Given the description of an element on the screen output the (x, y) to click on. 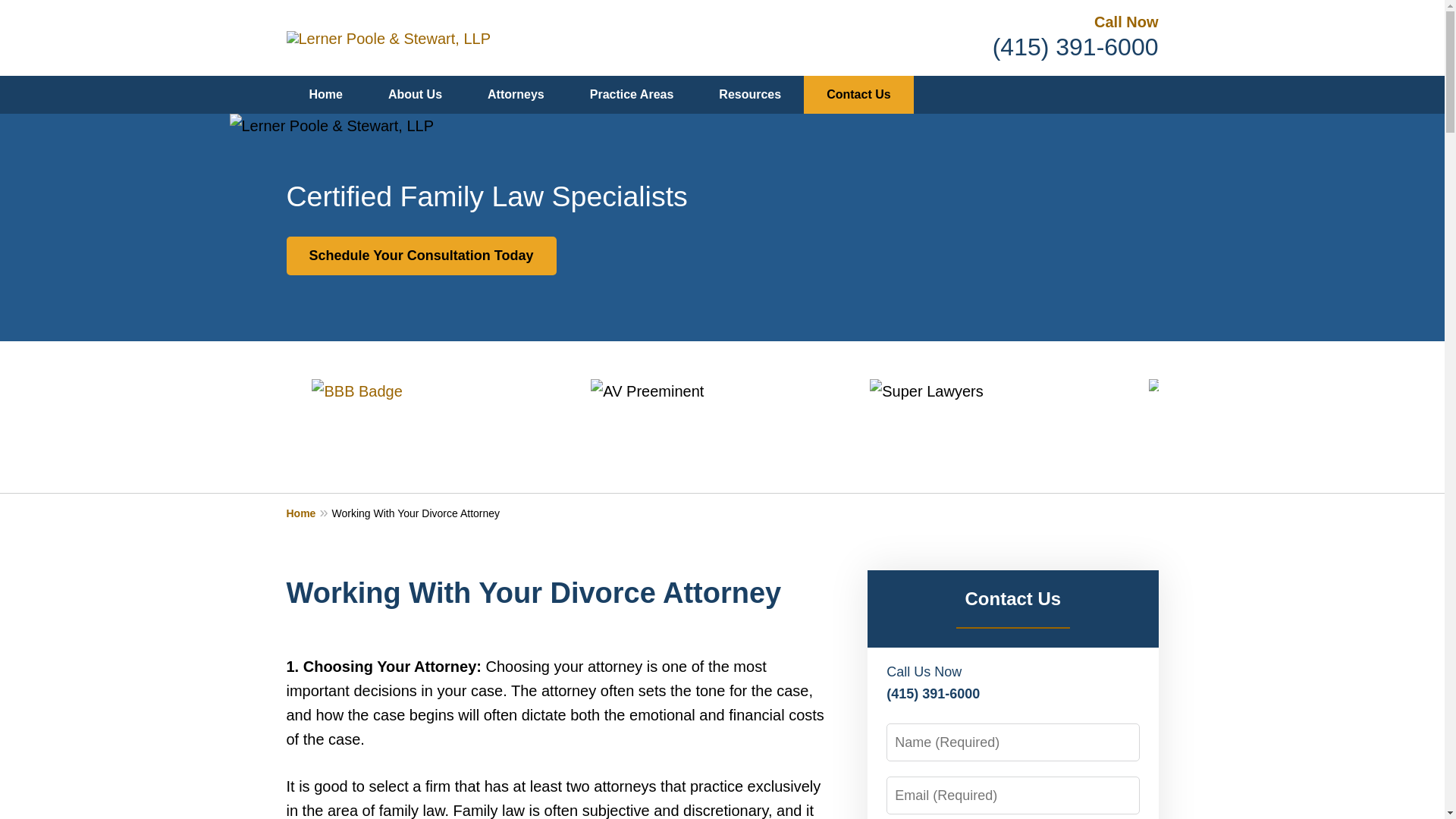
Schedule Your Consultation Today (421, 256)
Home (308, 513)
Resources (749, 94)
Contact Us (857, 94)
Call Now (1125, 21)
About Us (414, 94)
Practice Areas (632, 94)
Home (325, 94)
Attorneys (515, 94)
